Given the description of an element on the screen output the (x, y) to click on. 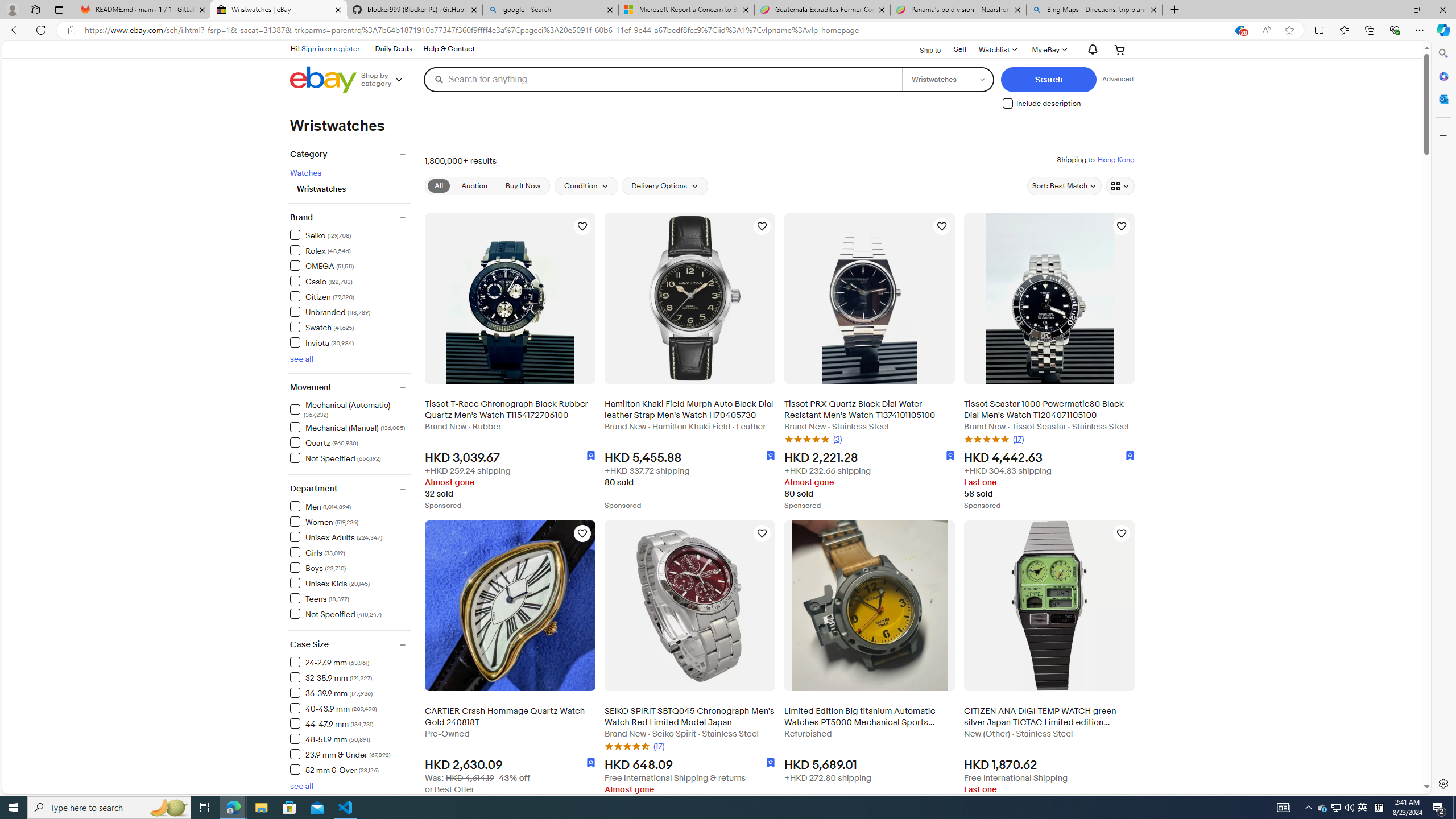
Select a category for search (946, 78)
OMEGA(51,511) Items (349, 264)
Mechanical (Manual) (136,085) Items (347, 426)
My eBayExpand My eBay (1048, 49)
Invicta (30,984) Items (321, 342)
Teens (18,397) Items (319, 597)
Auction (474, 185)
Citizen (79,320) Items (321, 296)
Include description (1008, 103)
Daily Deals (393, 49)
